Given the description of an element on the screen output the (x, y) to click on. 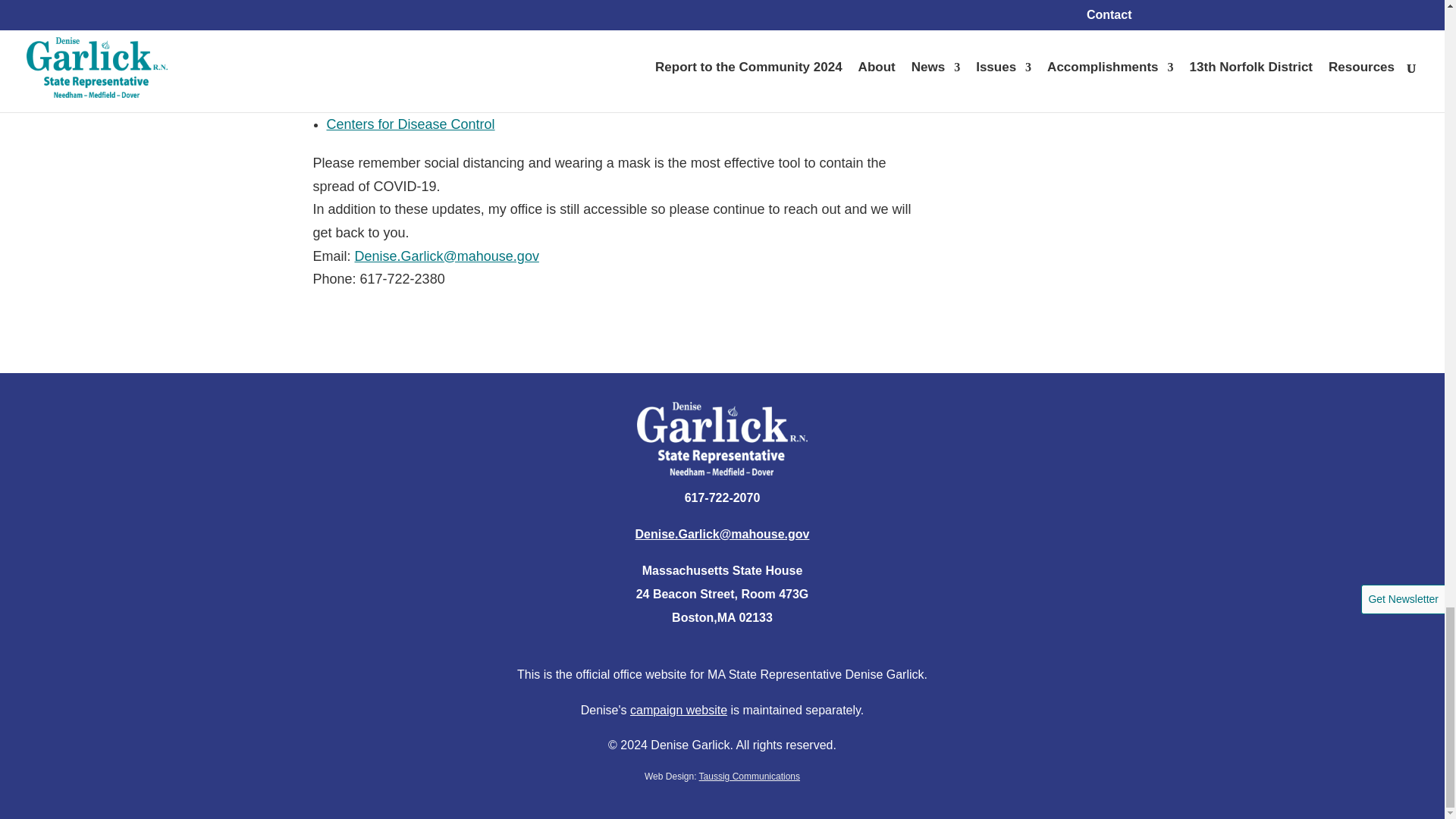
COVID-19 Travel Order (397, 104)
Reopening Massachusetts (406, 84)
Centers for Disease Control (410, 124)
Dover Updates (371, 45)
Needham Health Department Updates (441, 6)
Department of Public Health (411, 64)
Medfield Updates (379, 25)
Click here (535, 64)
